Given the description of an element on the screen output the (x, y) to click on. 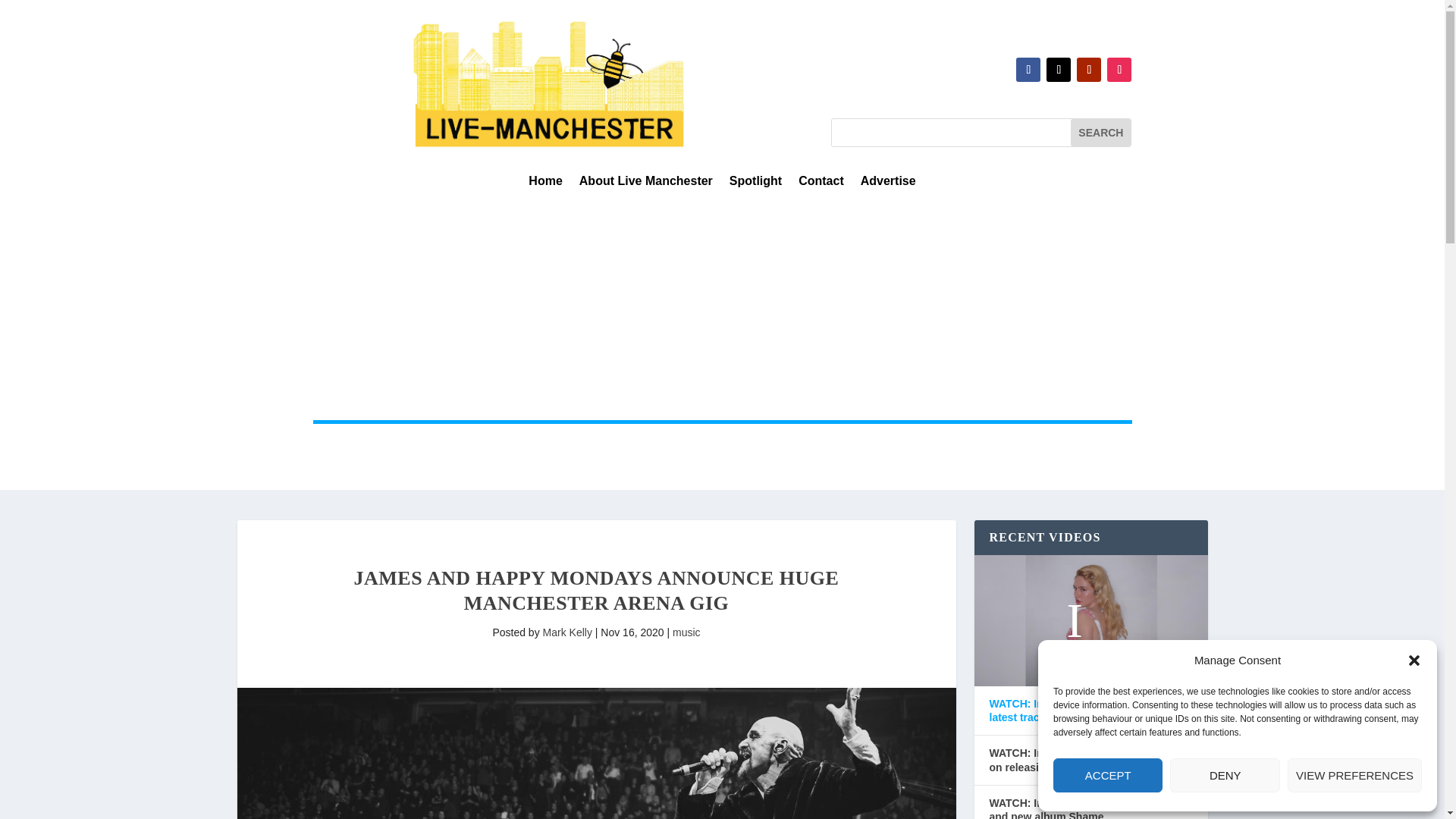
Search (1100, 132)
Search (1100, 132)
ACCEPT (1106, 775)
Contact (820, 184)
About Live Manchester (646, 184)
Advertise (887, 184)
Follow on Youtube (1088, 69)
Spotlight (755, 184)
VIEW PREFERENCES (1354, 775)
Follow on Instagram (1118, 69)
